Given the description of an element on the screen output the (x, y) to click on. 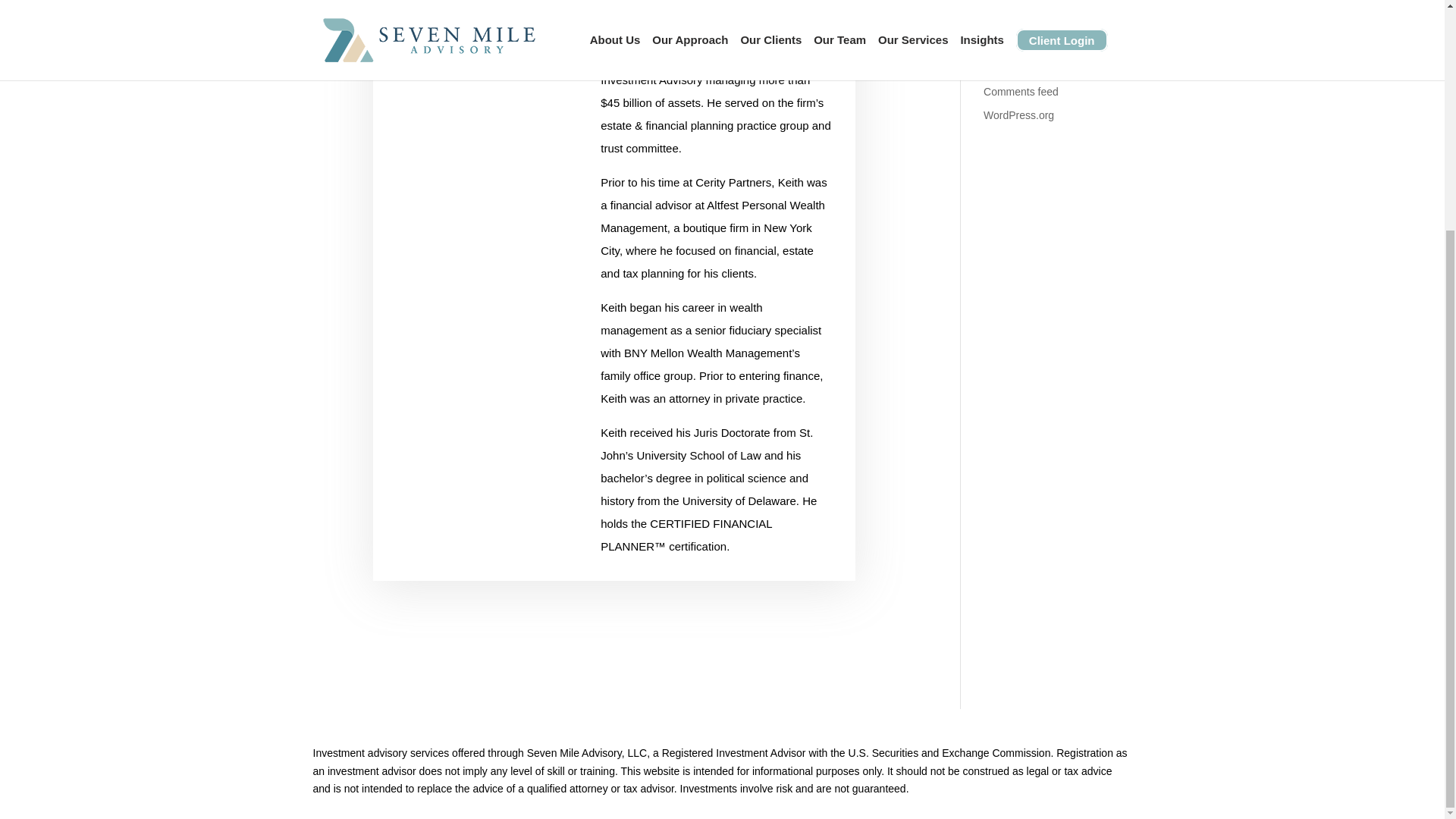
Log in (997, 45)
Comments feed (1021, 91)
Entries feed (1012, 69)
WordPress.org (1019, 114)
